Given the description of an element on the screen output the (x, y) to click on. 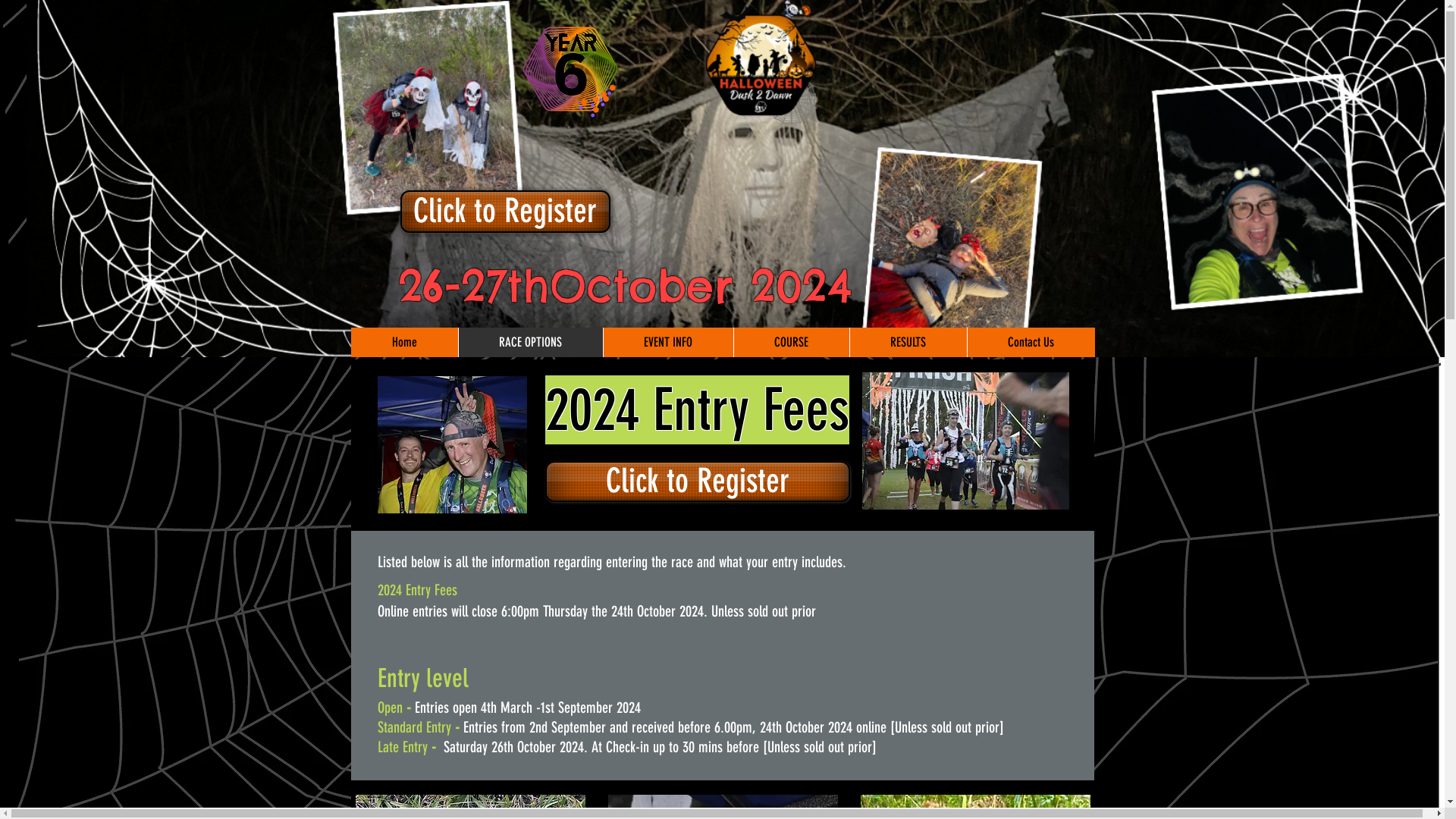
Click to Register Element type: text (505, 211)
Home Element type: text (403, 342)
Contact Us Element type: text (1030, 342)
RESULTS Element type: text (907, 342)
RACE OPTIONS Element type: text (530, 342)
Click to Register Element type: text (696, 481)
